Given the description of an element on the screen output the (x, y) to click on. 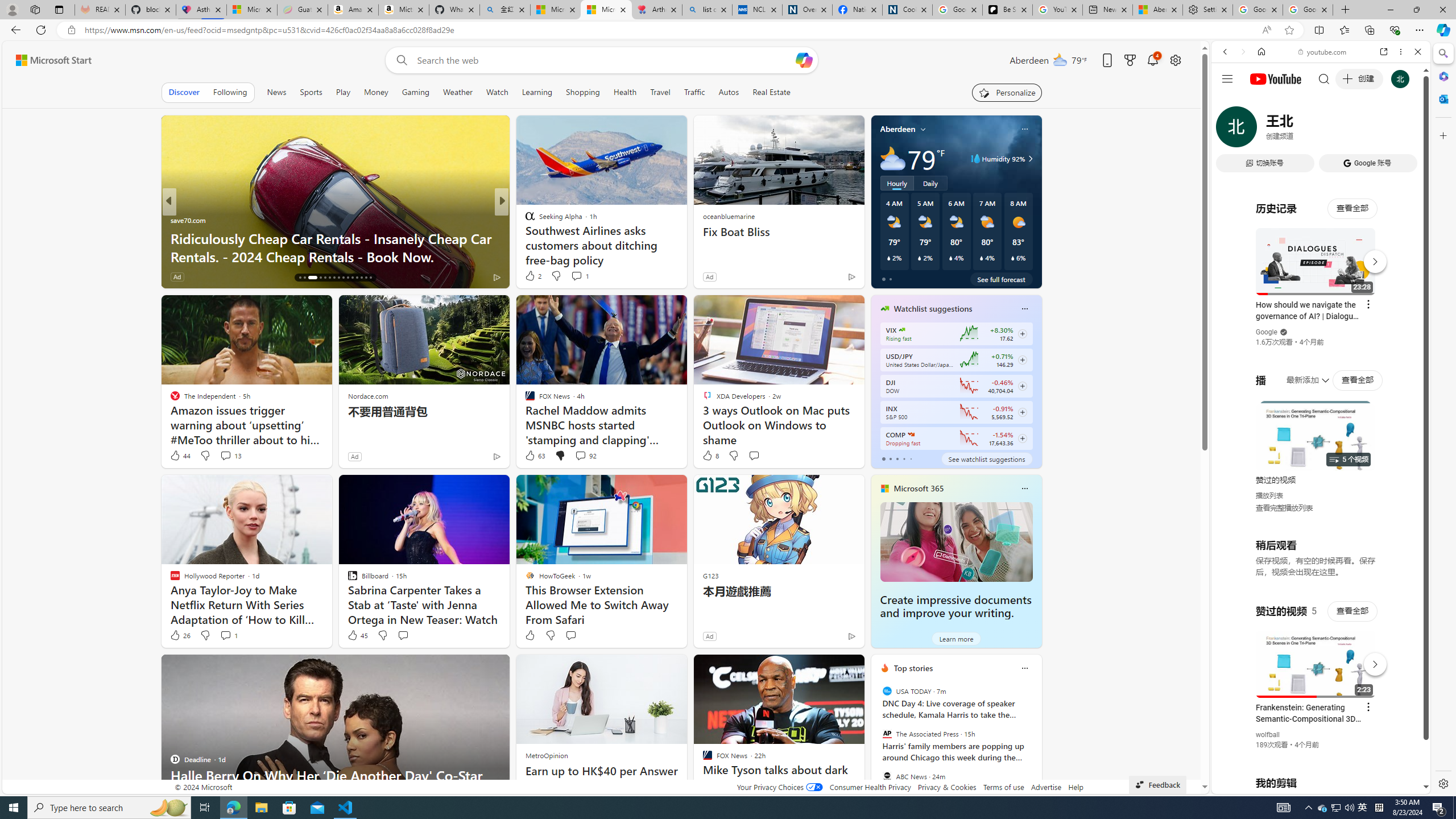
Following (229, 92)
View comments 13 Comment (230, 455)
Asthma Inhalers: Names and Types (201, 9)
The Washington Post (524, 219)
View comments 1 Comment (225, 635)
Hourly (896, 183)
Class: weather-current-precipitation-glyph (1012, 257)
News (276, 92)
Class: icon-img (1024, 668)
The Associated Press (886, 733)
WEB   (1230, 130)
